Given the description of an element on the screen output the (x, y) to click on. 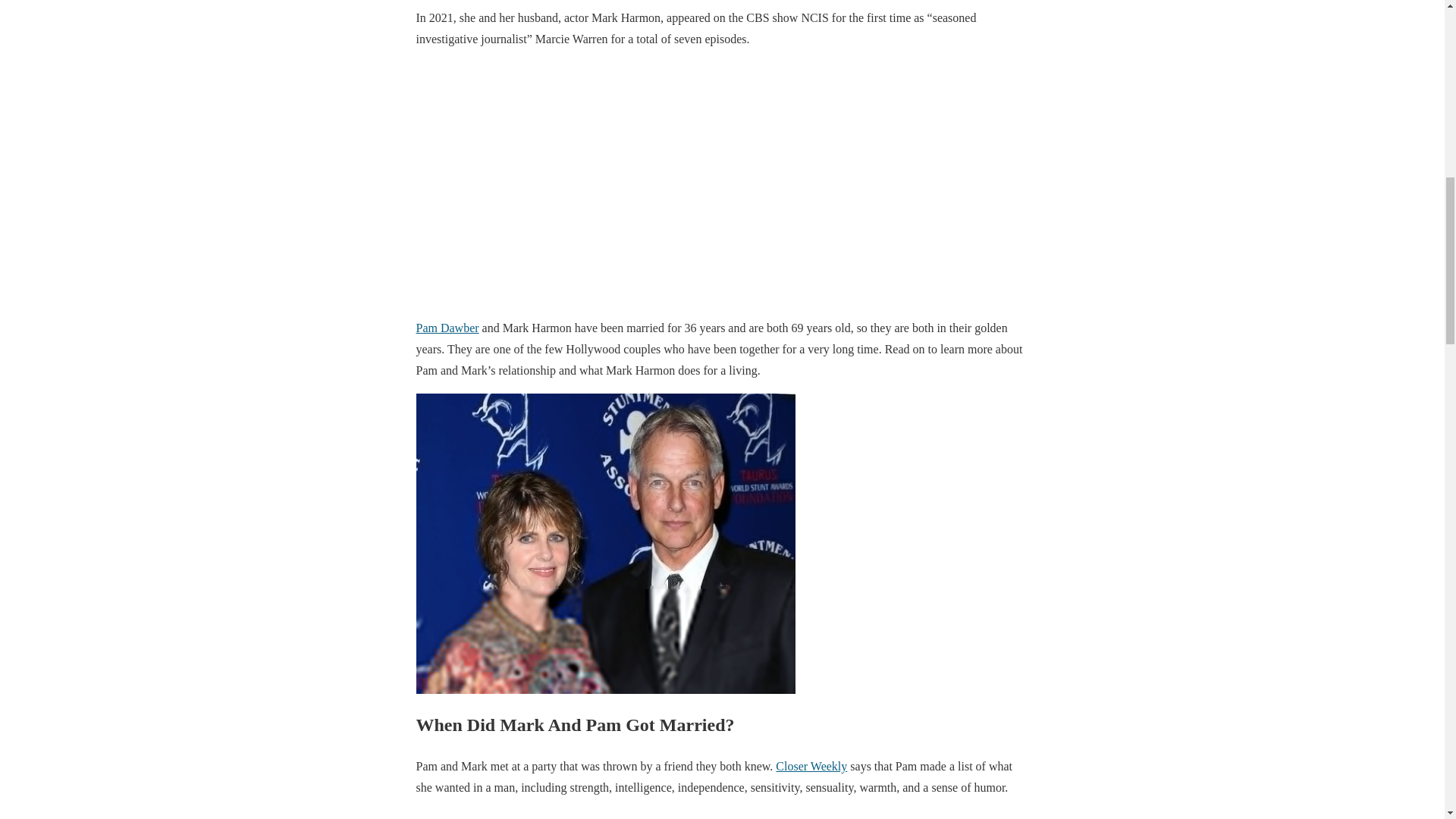
3rd party ad content (720, 814)
Pam Dawber (446, 327)
Closer Weekly (811, 766)
